Given the description of an element on the screen output the (x, y) to click on. 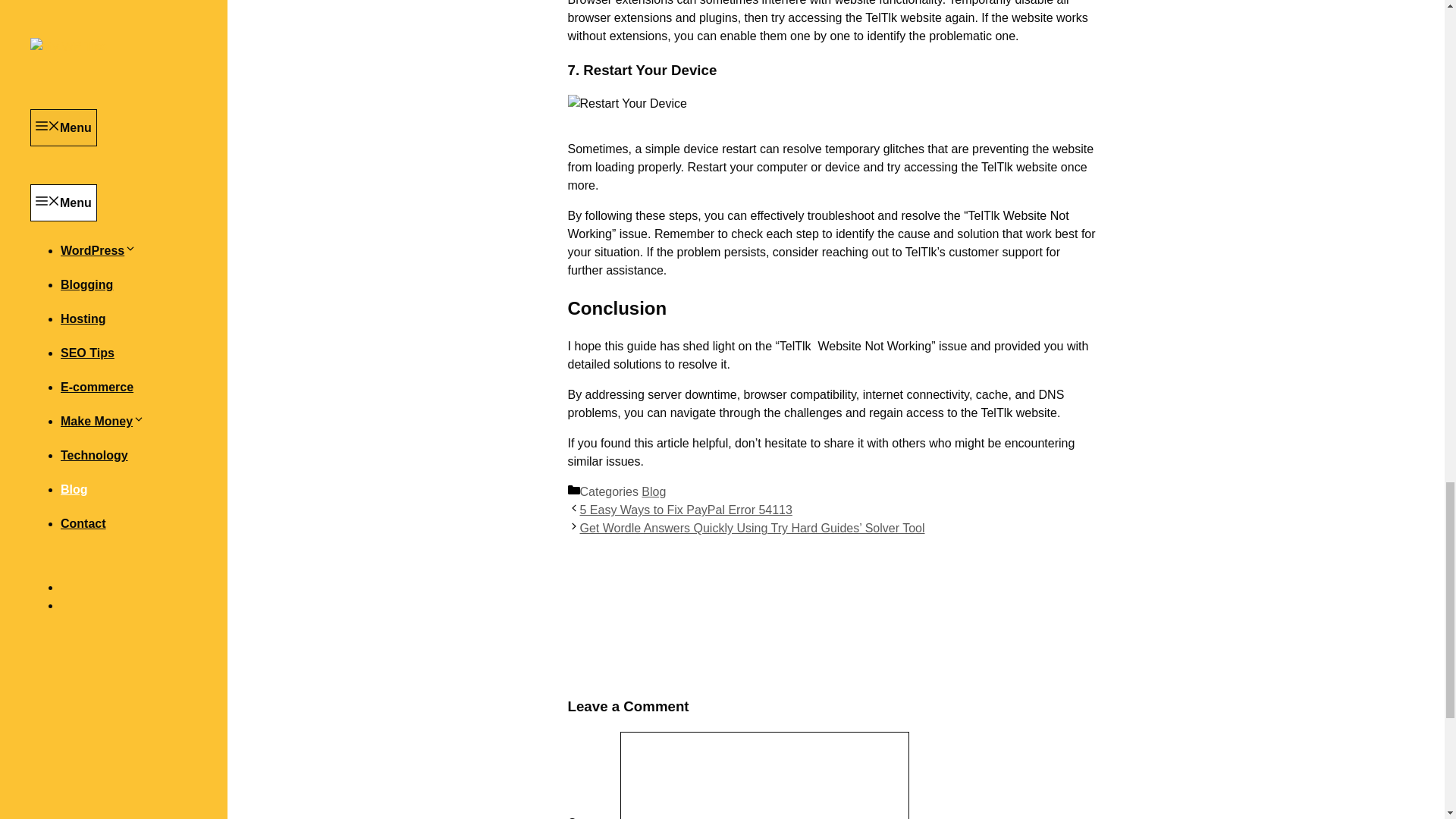
Blog (653, 491)
